Given the description of an element on the screen output the (x, y) to click on. 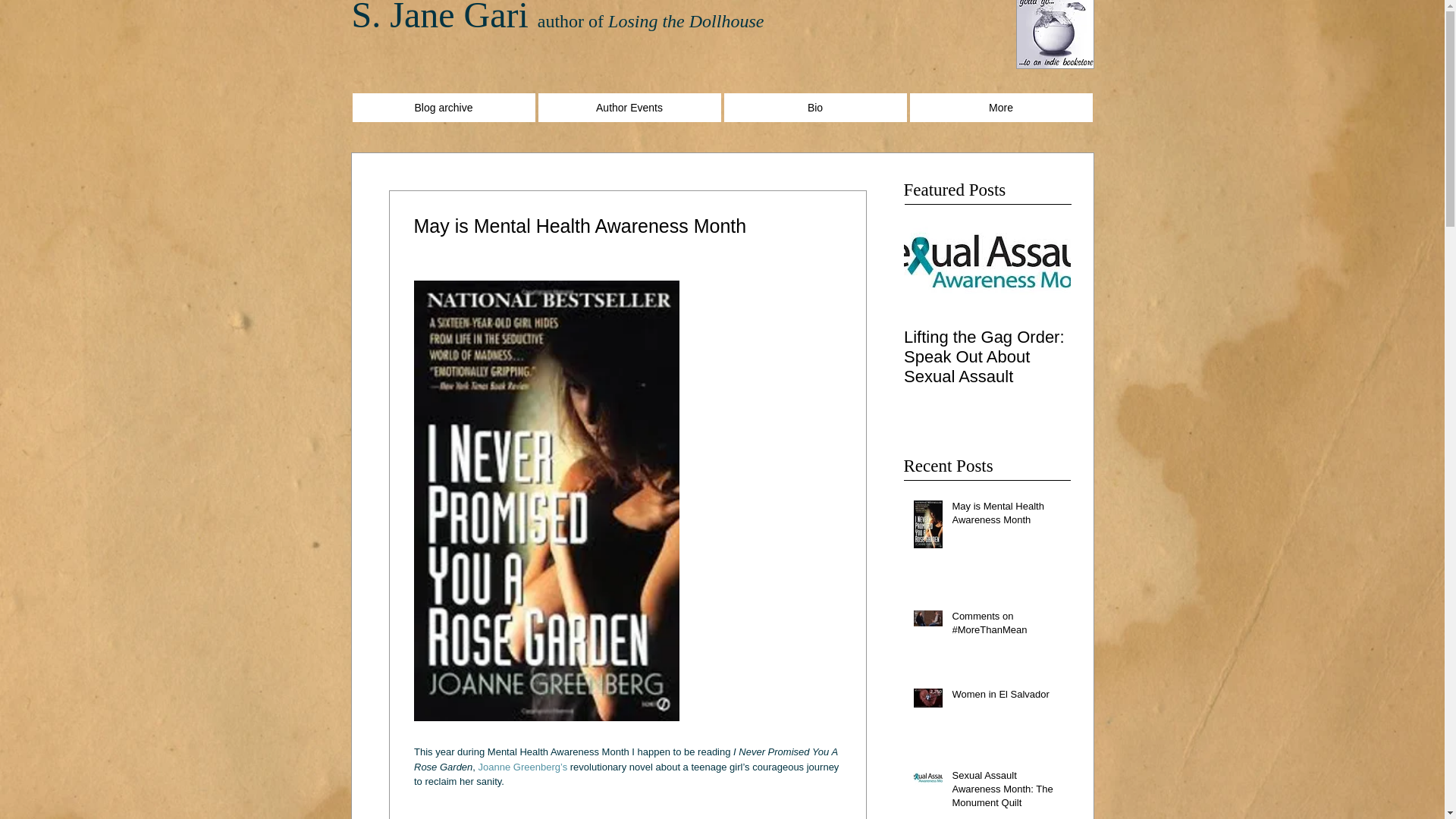
Women in El Salvador (1006, 697)
Blog archive (443, 107)
Bio (814, 107)
Sexual Assault Awareness Month: The Monument Quilt (1006, 792)
May is Mental Health Awareness Month (1006, 516)
Author Events (629, 107)
Lifting the Gag Order: Speak Out About Sexual Assault (987, 356)
